Given the description of an element on the screen output the (x, y) to click on. 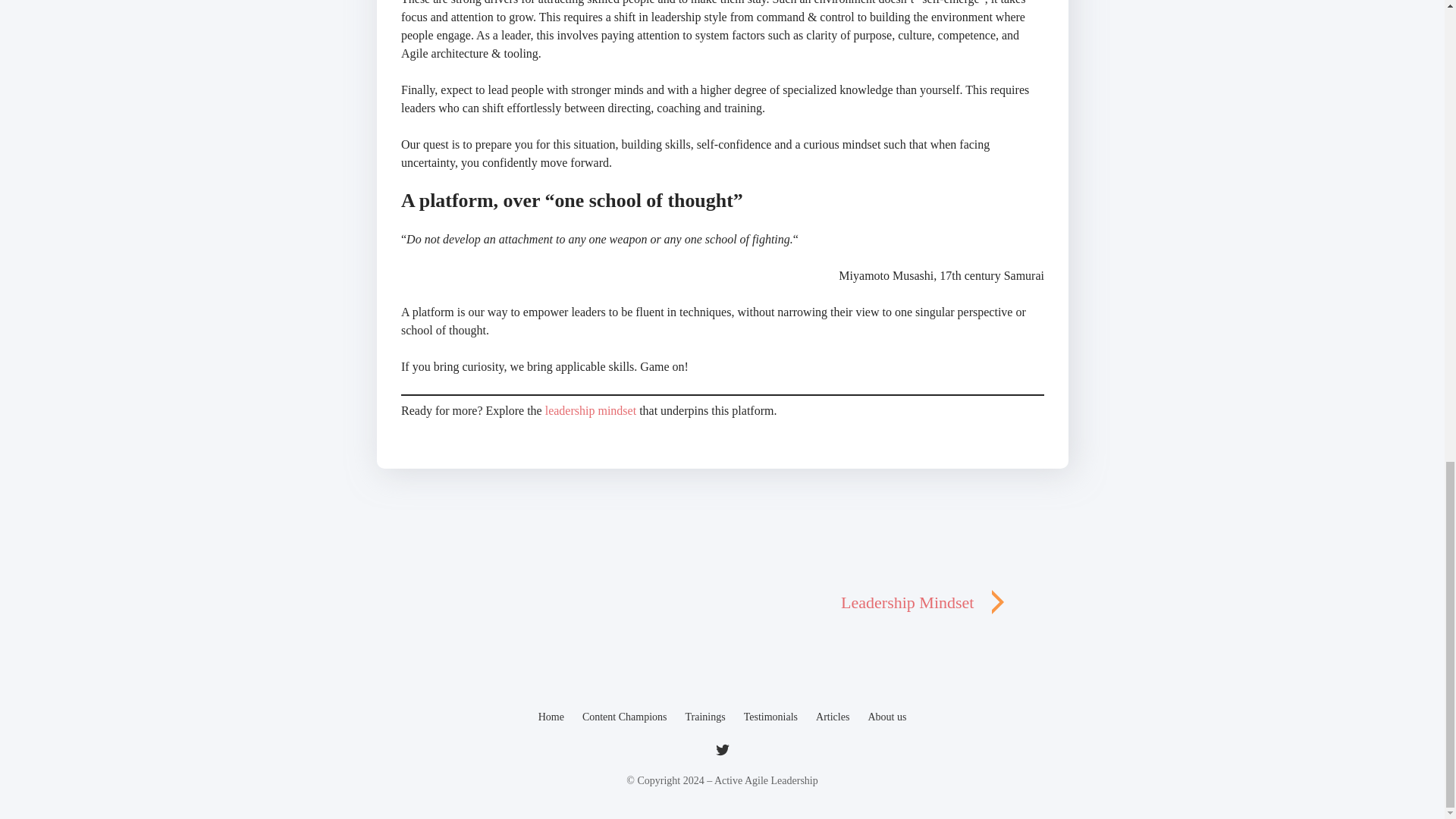
Content Champions (624, 716)
Trainings (705, 716)
Articles (831, 716)
Leadership Mindset (925, 602)
Testimonials (770, 716)
About us (886, 716)
leadership mindset (591, 410)
Home (551, 716)
